Given the description of an element on the screen output the (x, y) to click on. 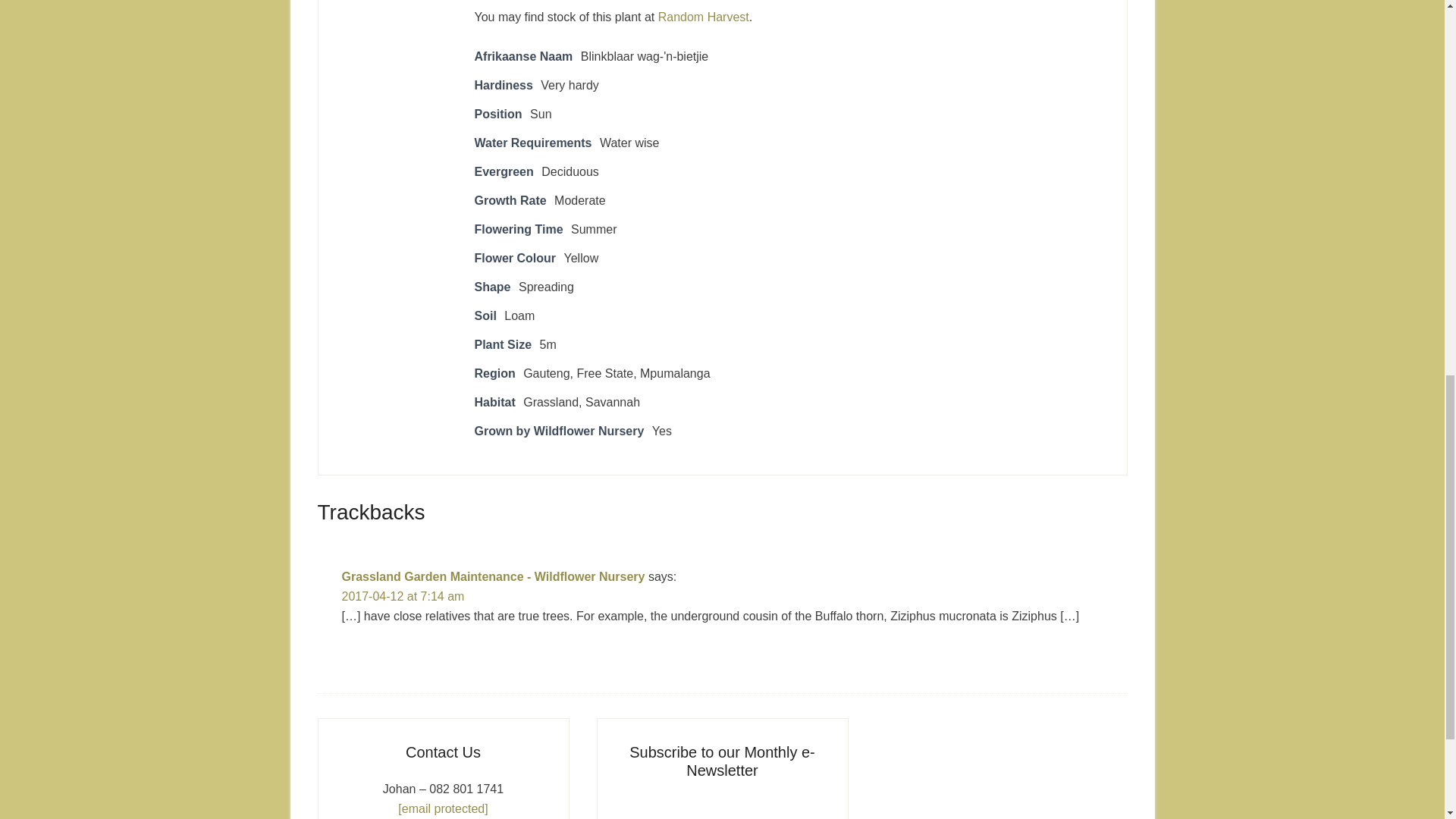
2017-04-12 at 7:14 am (402, 595)
Grassland Garden Maintenance - Wildflower Nursery (492, 576)
Random Harvest (703, 16)
